Given the description of an element on the screen output the (x, y) to click on. 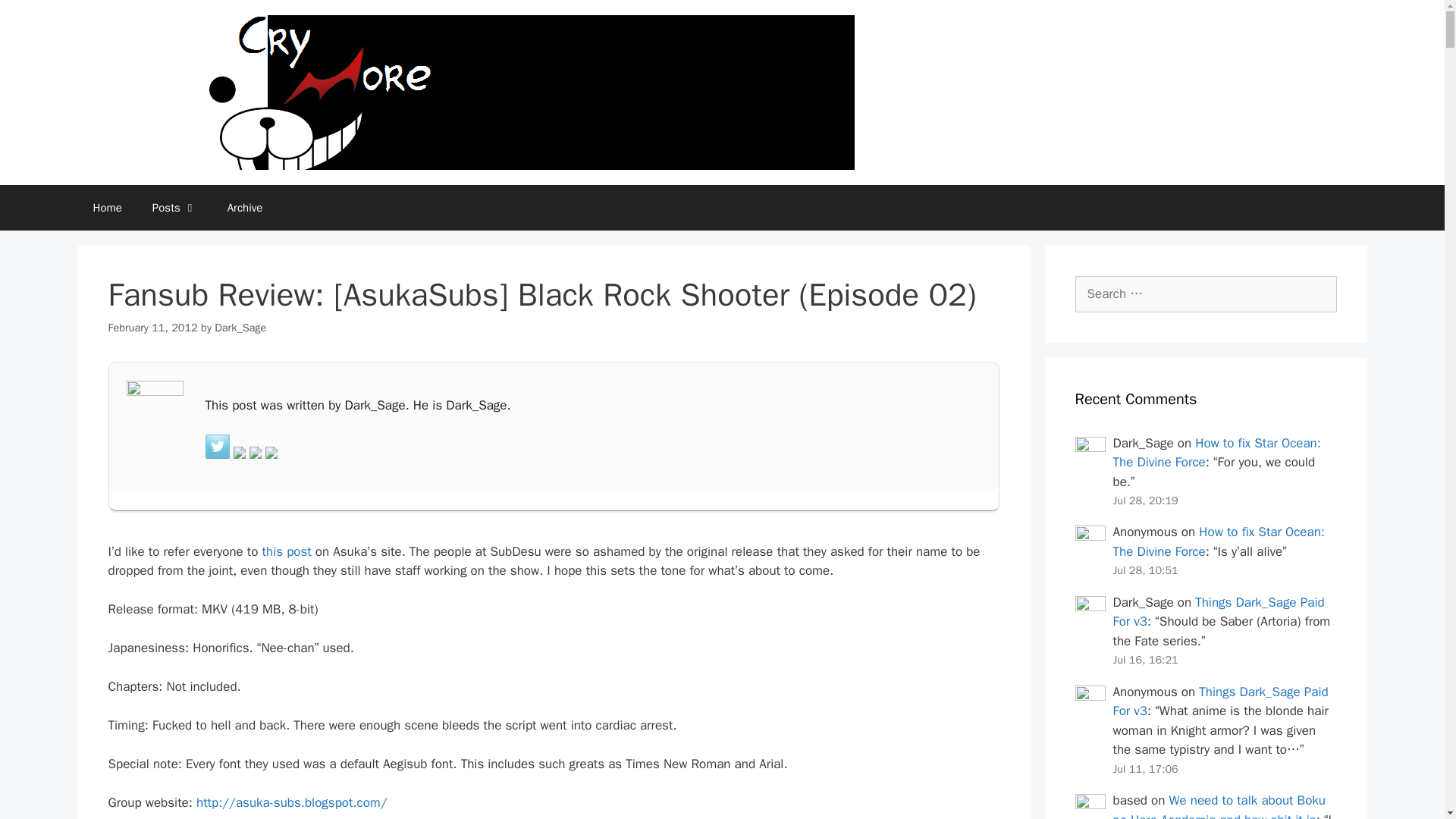
Posts (174, 207)
this post (286, 551)
Archive (245, 207)
Home (106, 207)
Twitter (216, 446)
